Given the description of an element on the screen output the (x, y) to click on. 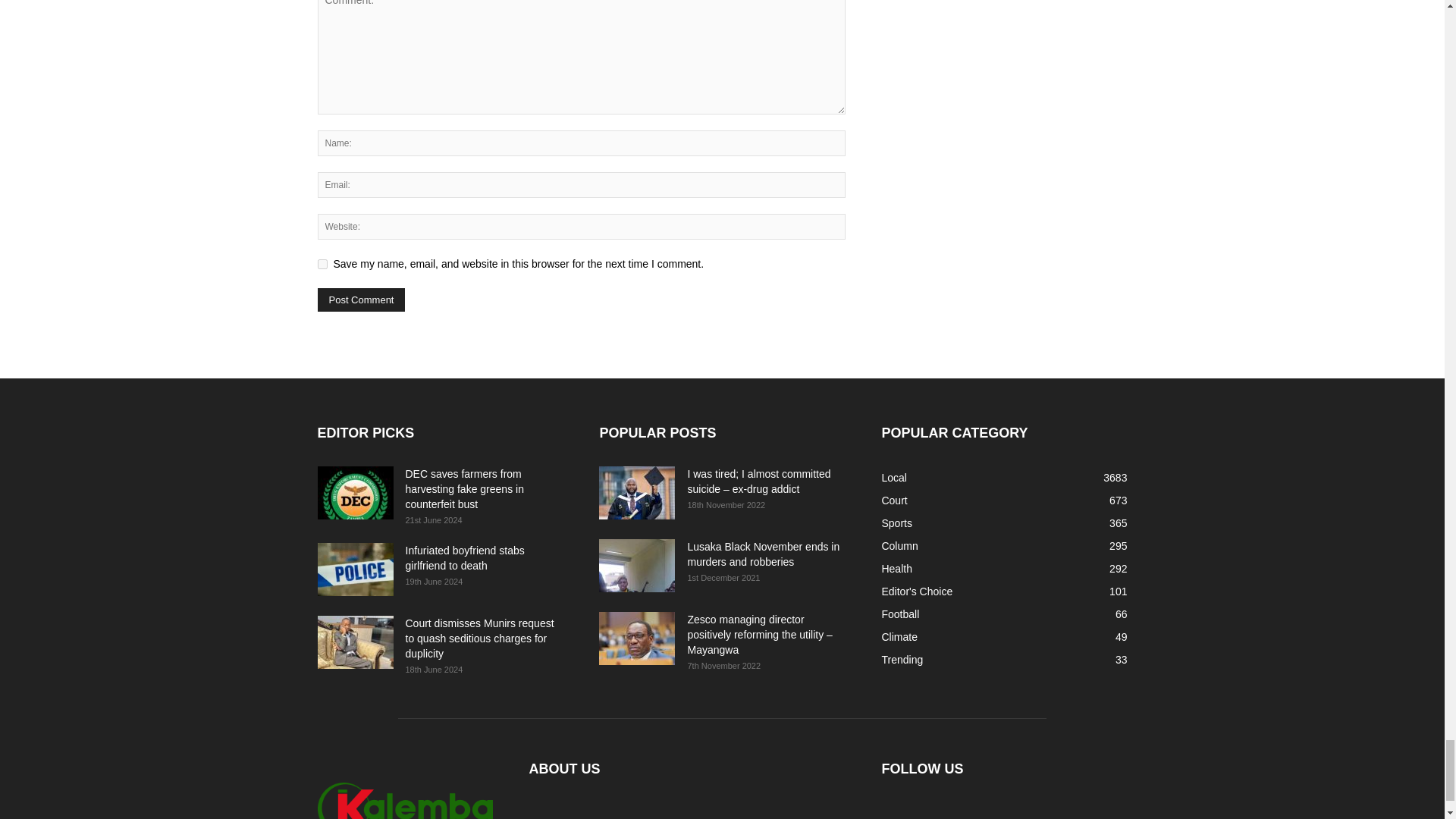
Post Comment (360, 300)
yes (321, 264)
